Given the description of an element on the screen output the (x, y) to click on. 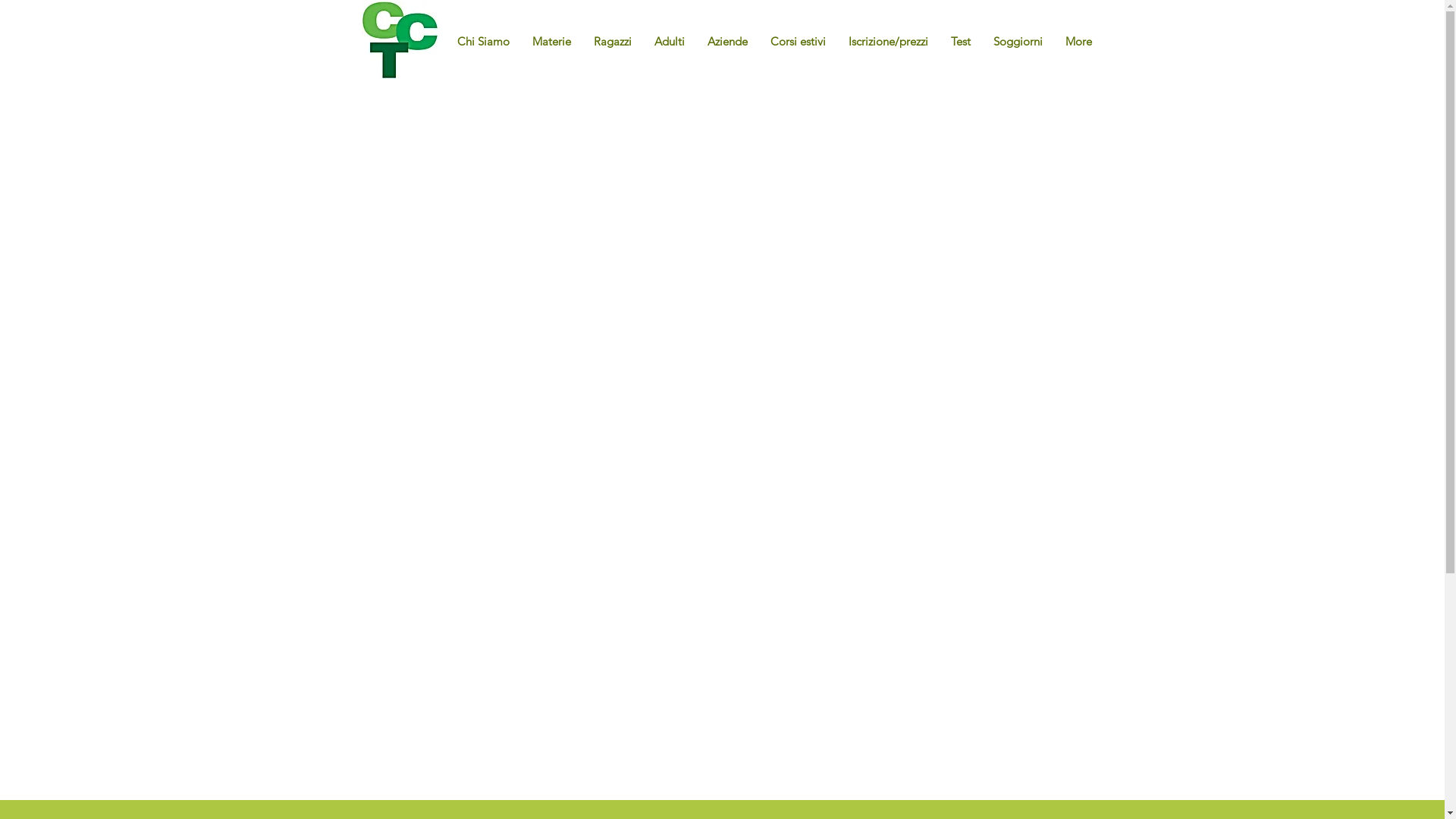
Materie Element type: text (550, 41)
Corsi estivi Element type: text (742, 34)
Soggiorni Element type: text (1017, 41)
Aziende Element type: text (727, 41)
Iscrizione/prezzi Element type: text (840, 34)
Corsi estivi Element type: text (797, 41)
Soggiorni Element type: text (981, 34)
Adulti Element type: text (602, 34)
Chi Siamo Element type: text (482, 41)
Materie Element type: text (474, 34)
Ragazzi Element type: text (612, 41)
Chi Siamo Element type: text (400, 34)
Aziende Element type: text (664, 34)
Iscrizione/prezzi Element type: text (888, 41)
Adulti Element type: text (669, 41)
Ragazzi Element type: text (541, 34)
